Given the description of an element on the screen output the (x, y) to click on. 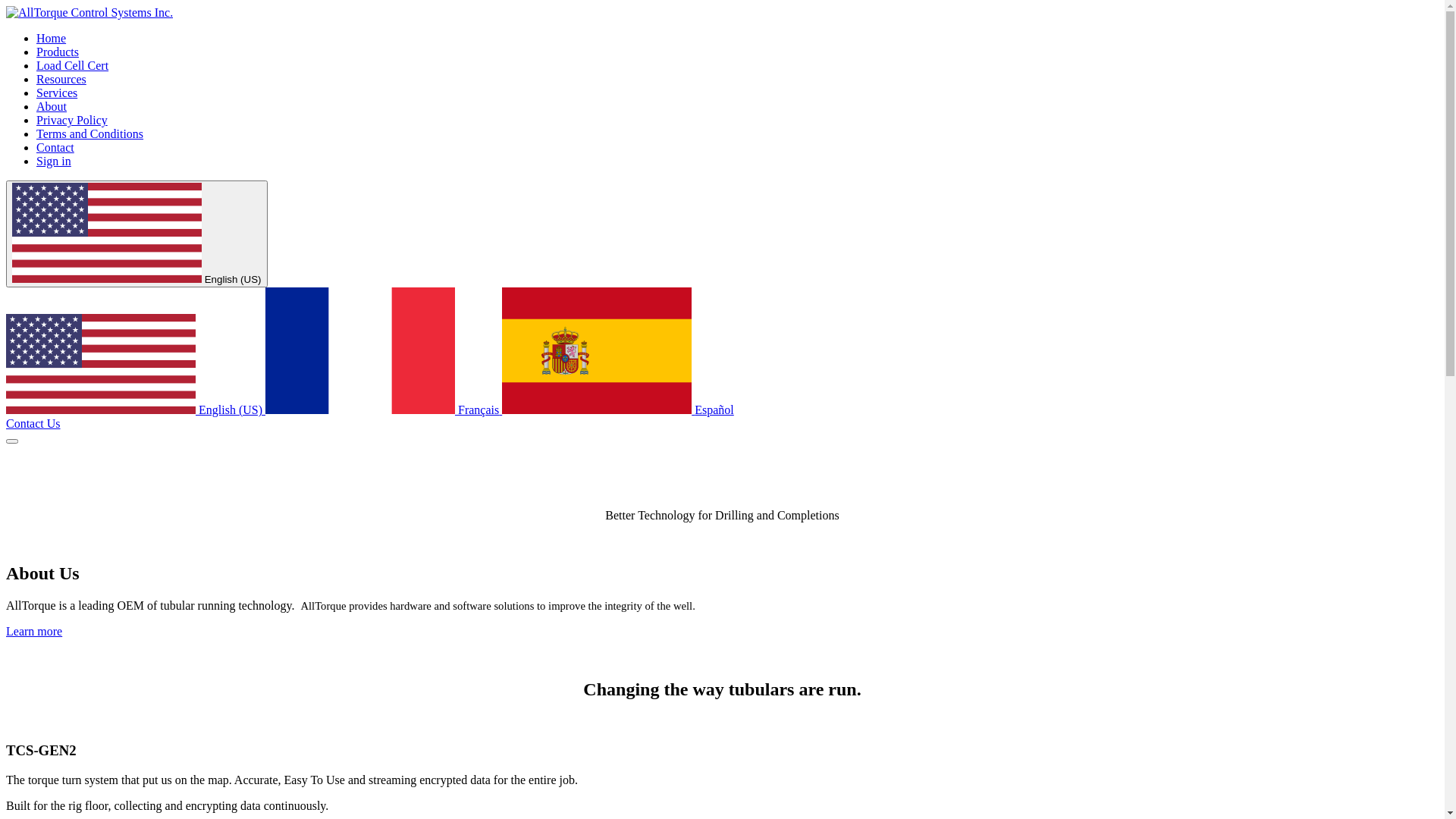
Privacy Policy Element type: text (71, 119)
Terms and Conditions Element type: text (89, 133)
Learn more Element type: text (34, 630)
About Element type: text (51, 106)
Sign in Element type: text (53, 160)
Contact Element type: text (55, 147)
Contact Us Element type: text (33, 423)
Services Element type: text (56, 92)
Load Cell Cert Element type: text (72, 65)
Resources Element type: text (61, 78)
English (US) Element type: text (136, 233)
English (US) Element type: text (135, 409)
Products Element type: text (57, 51)
AllTorque Control Systems Inc. Element type: hover (89, 12)
Home Element type: text (50, 37)
